Given the description of an element on the screen output the (x, y) to click on. 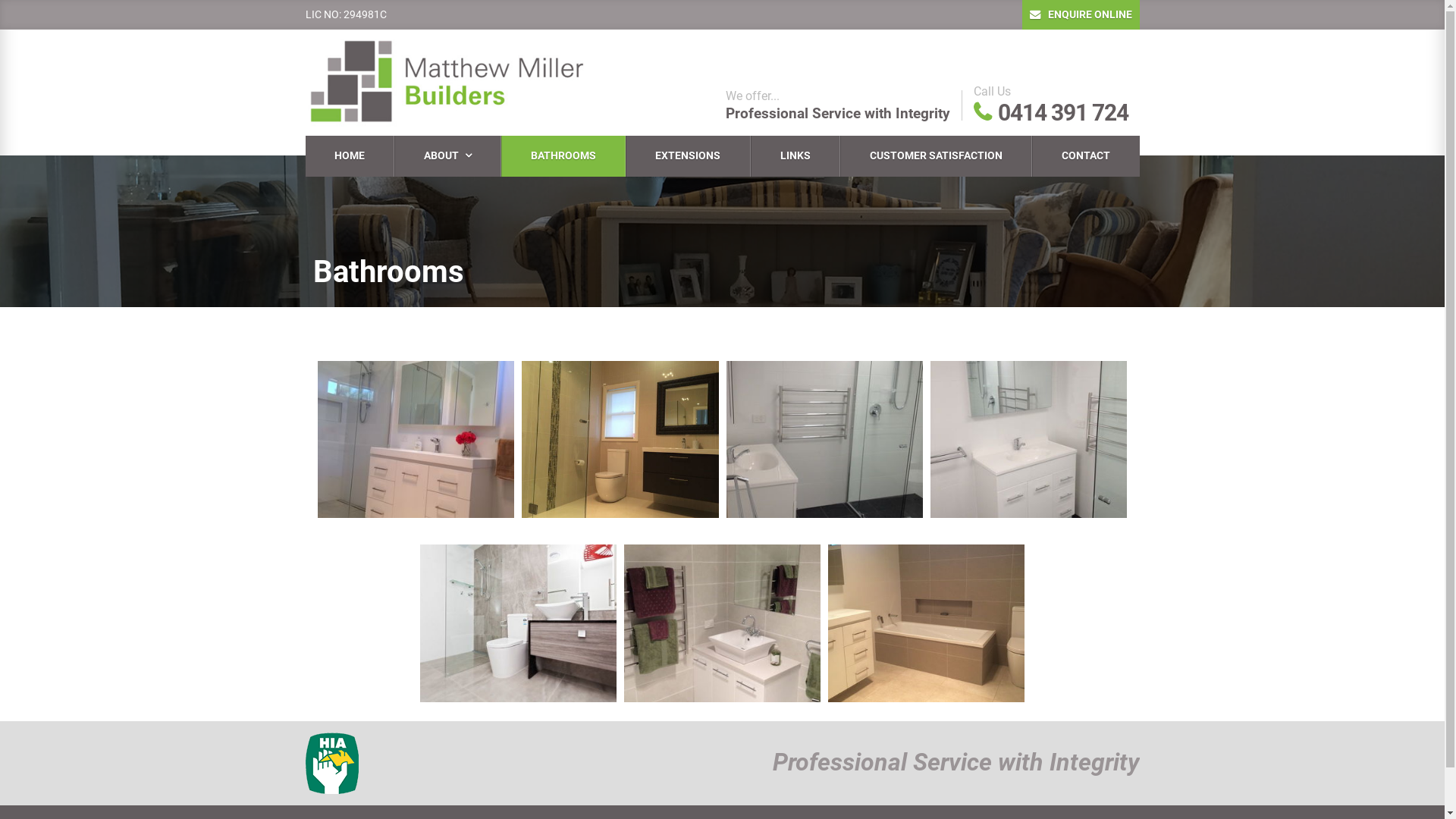
BATHROOMS Element type: text (563, 155)
LINKS Element type: text (795, 155)
Bathrooms Element type: text (387, 271)
HOME Element type: text (348, 155)
ABOUT Element type: text (447, 155)
CUSTOMER SATISFACTION Element type: text (936, 155)
EXTENSIONS Element type: text (687, 155)
ENQUIRE ONLINE Element type: text (1080, 14)
CONTACT Element type: text (1085, 155)
